Given the description of an element on the screen output the (x, y) to click on. 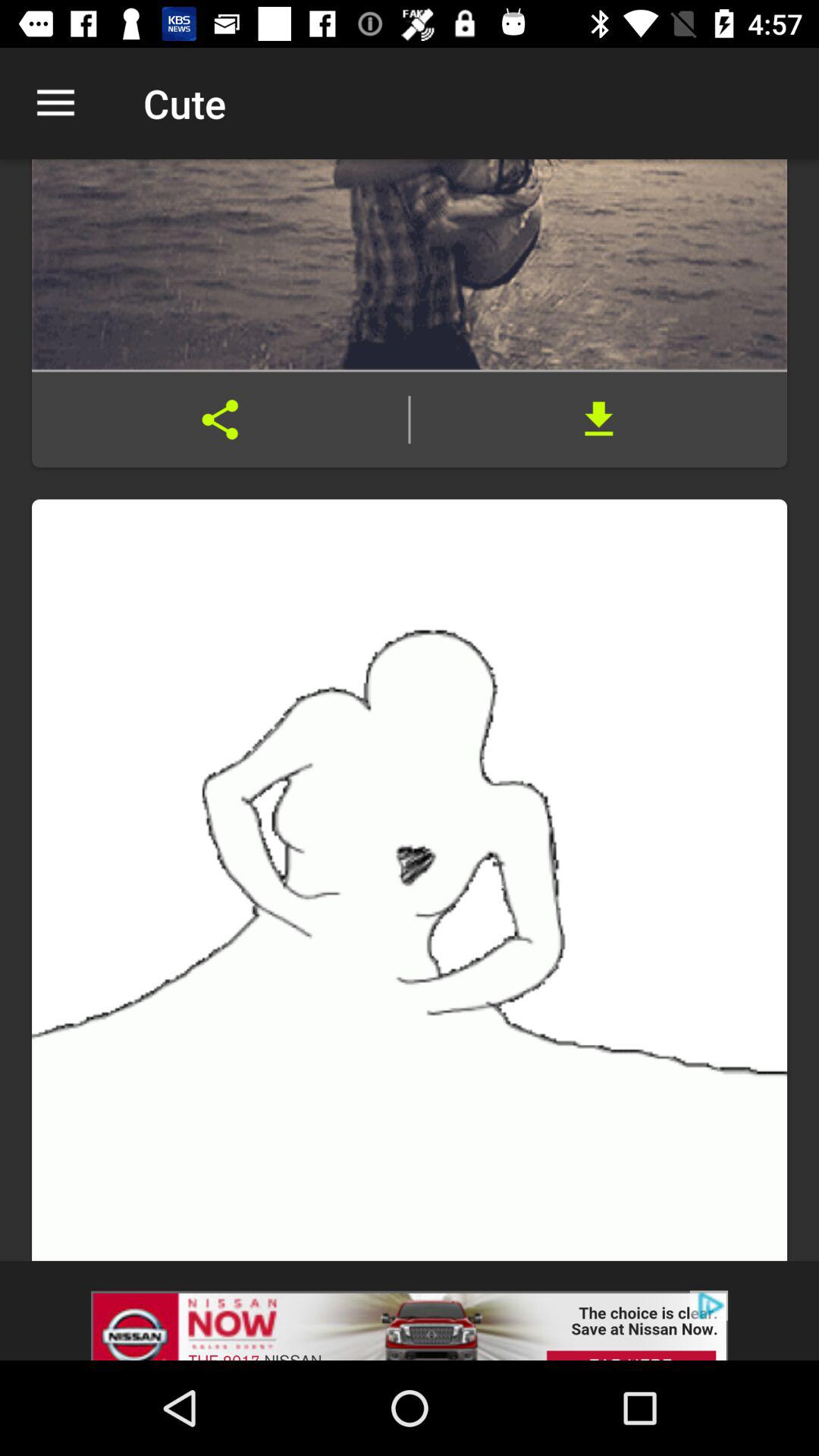
click to download (598, 419)
